Given the description of an element on the screen output the (x, y) to click on. 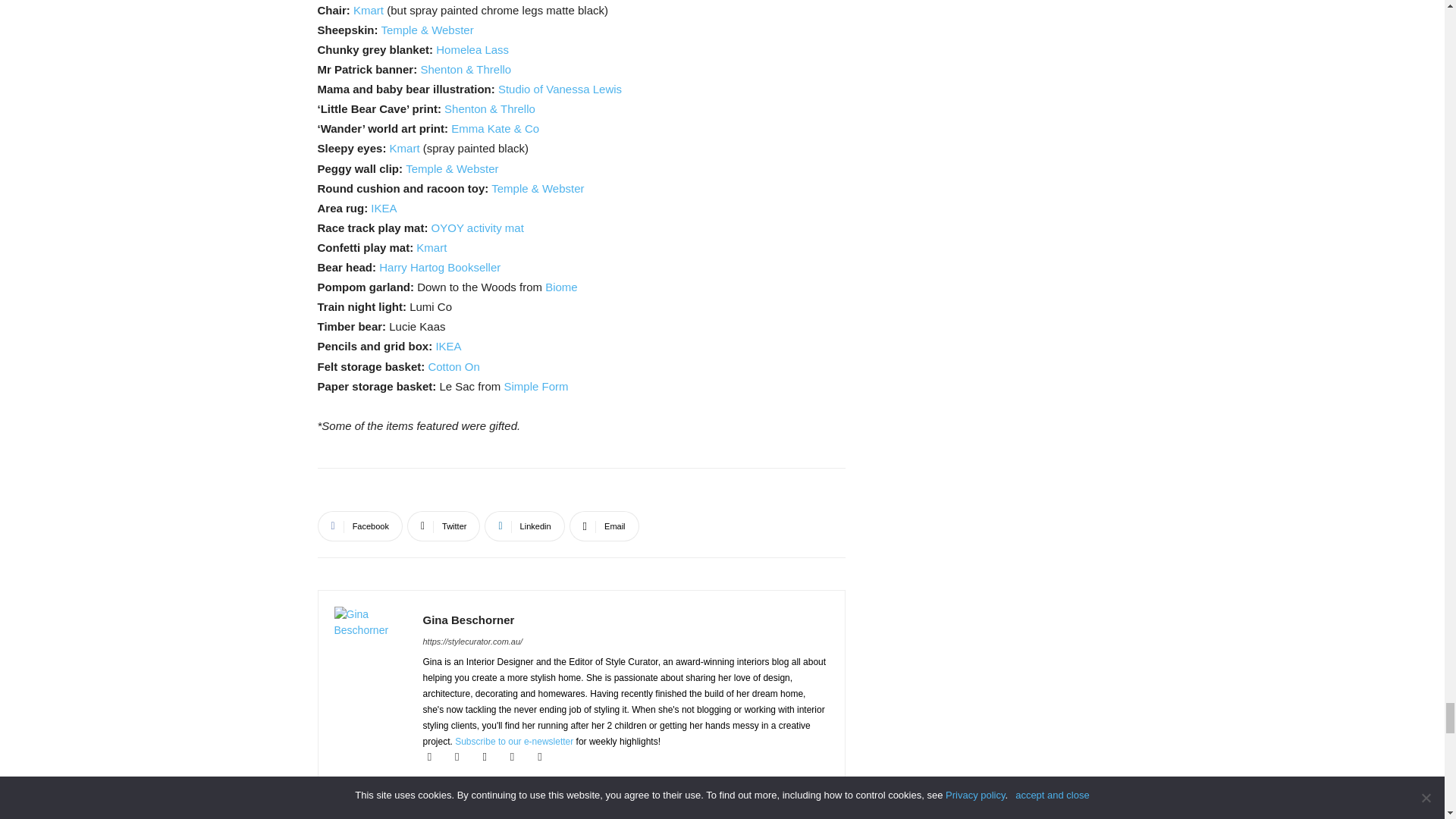
Email (604, 526)
Facebook (359, 526)
bottomFacebookLike (430, 492)
Linkedin (524, 526)
Twitter (443, 526)
